Given the description of an element on the screen output the (x, y) to click on. 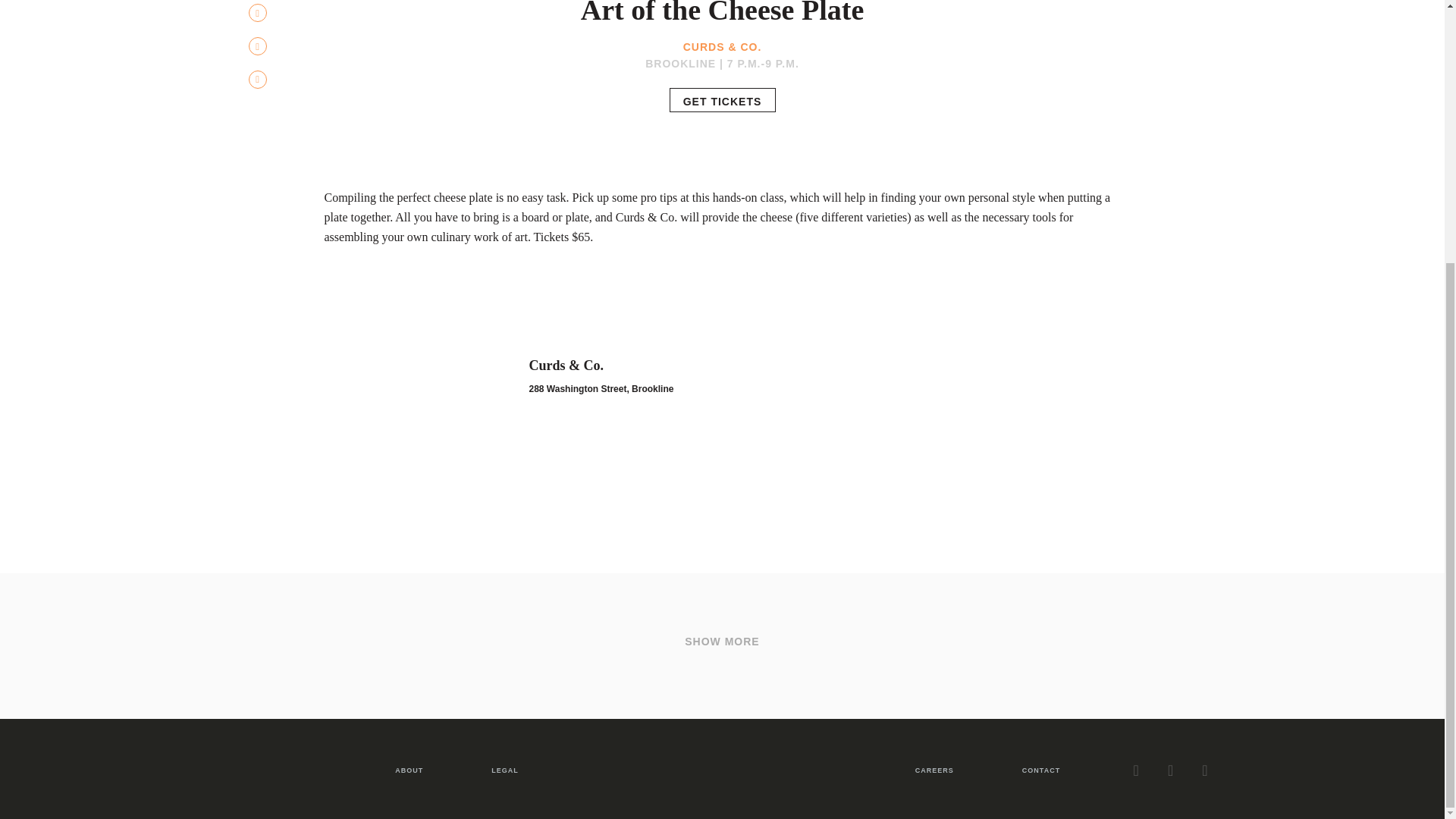
Share on Twitter (257, 13)
Share on Pinterest (257, 45)
Share via Email (257, 79)
GET TICKETS (721, 99)
